Given the description of an element on the screen output the (x, y) to click on. 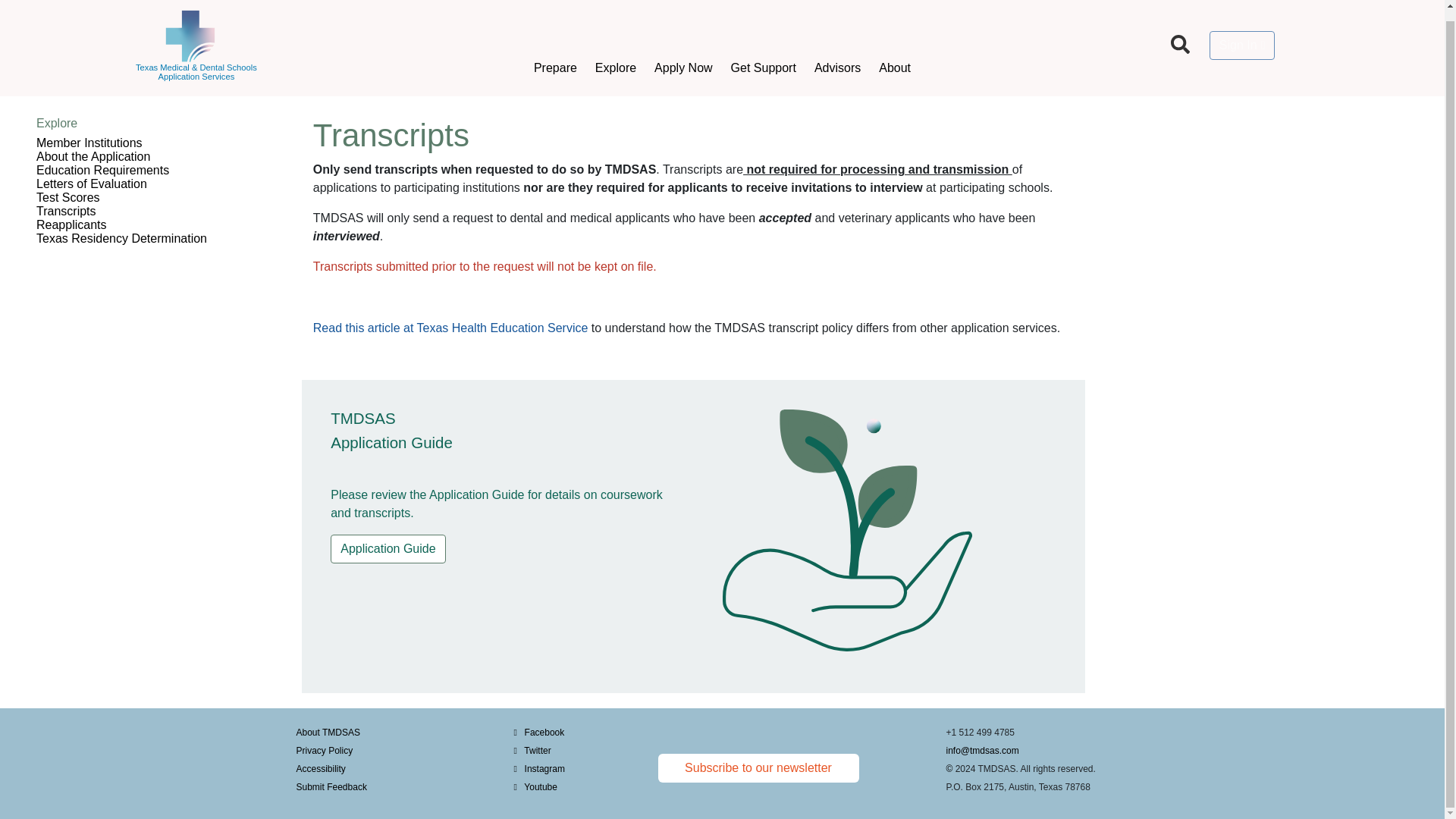
Advisors (837, 37)
search (1179, 33)
Apply Now (682, 37)
Get Support (763, 37)
Skip to main content (11, 91)
